Given the description of an element on the screen output the (x, y) to click on. 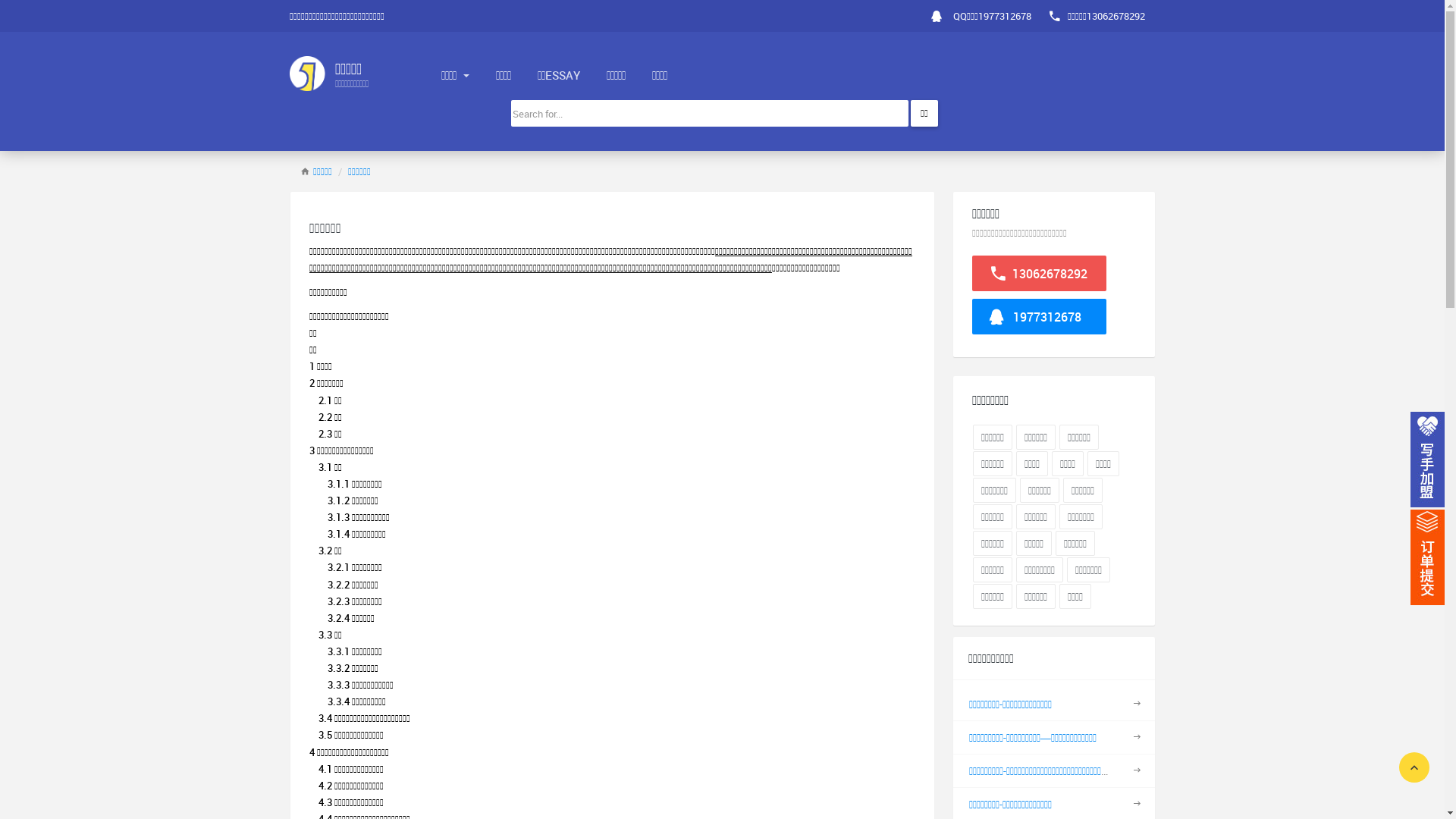
1977312678 Element type: text (1039, 316)
13062678292 Element type: text (1039, 273)
